Given the description of an element on the screen output the (x, y) to click on. 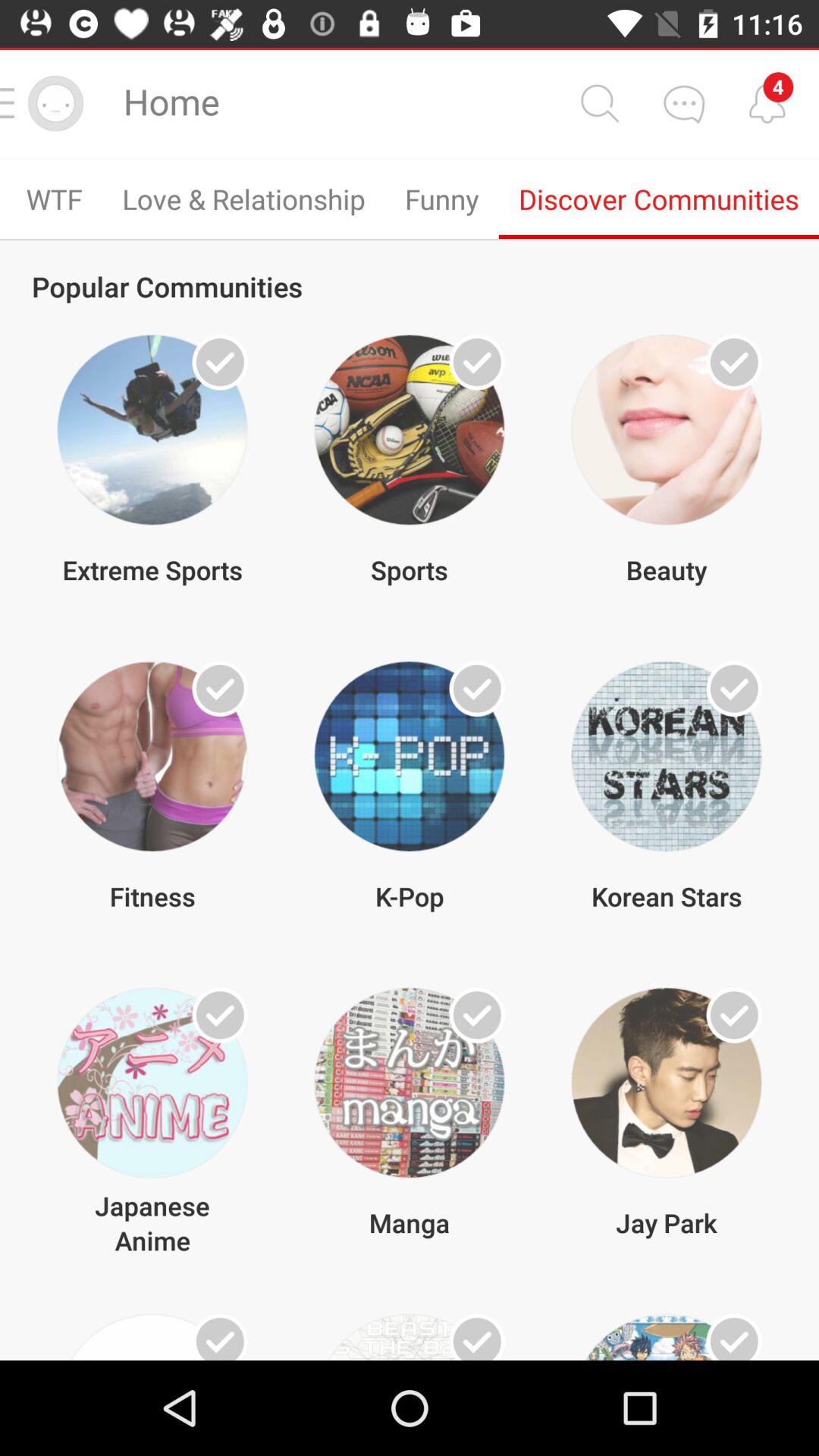
messages (683, 103)
